Given the description of an element on the screen output the (x, y) to click on. 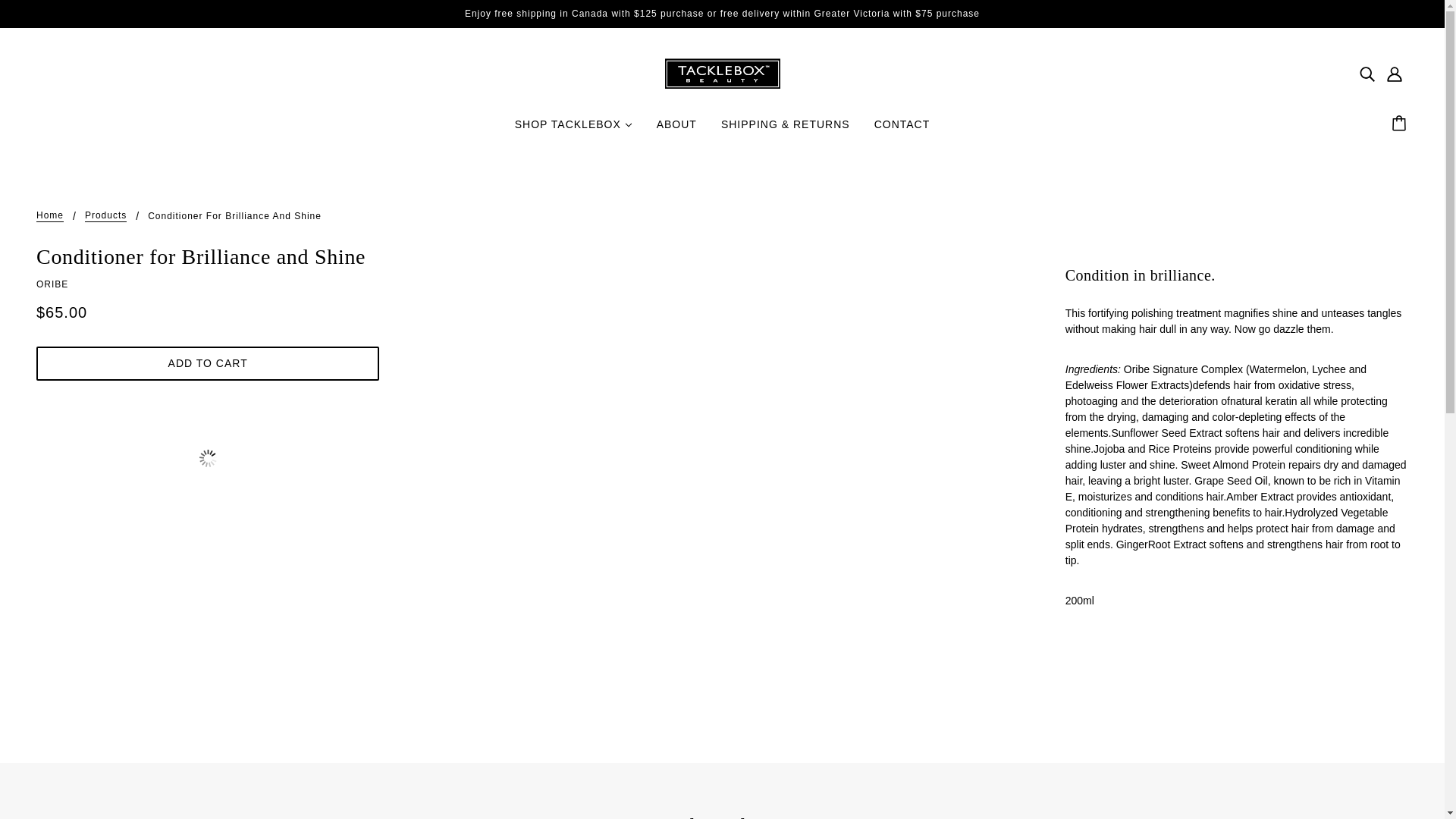
ABOUT (677, 130)
SHOP TACKLEBOX (573, 130)
CONTACT (901, 130)
Tacklebox Beauty (720, 72)
